Given the description of an element on the screen output the (x, y) to click on. 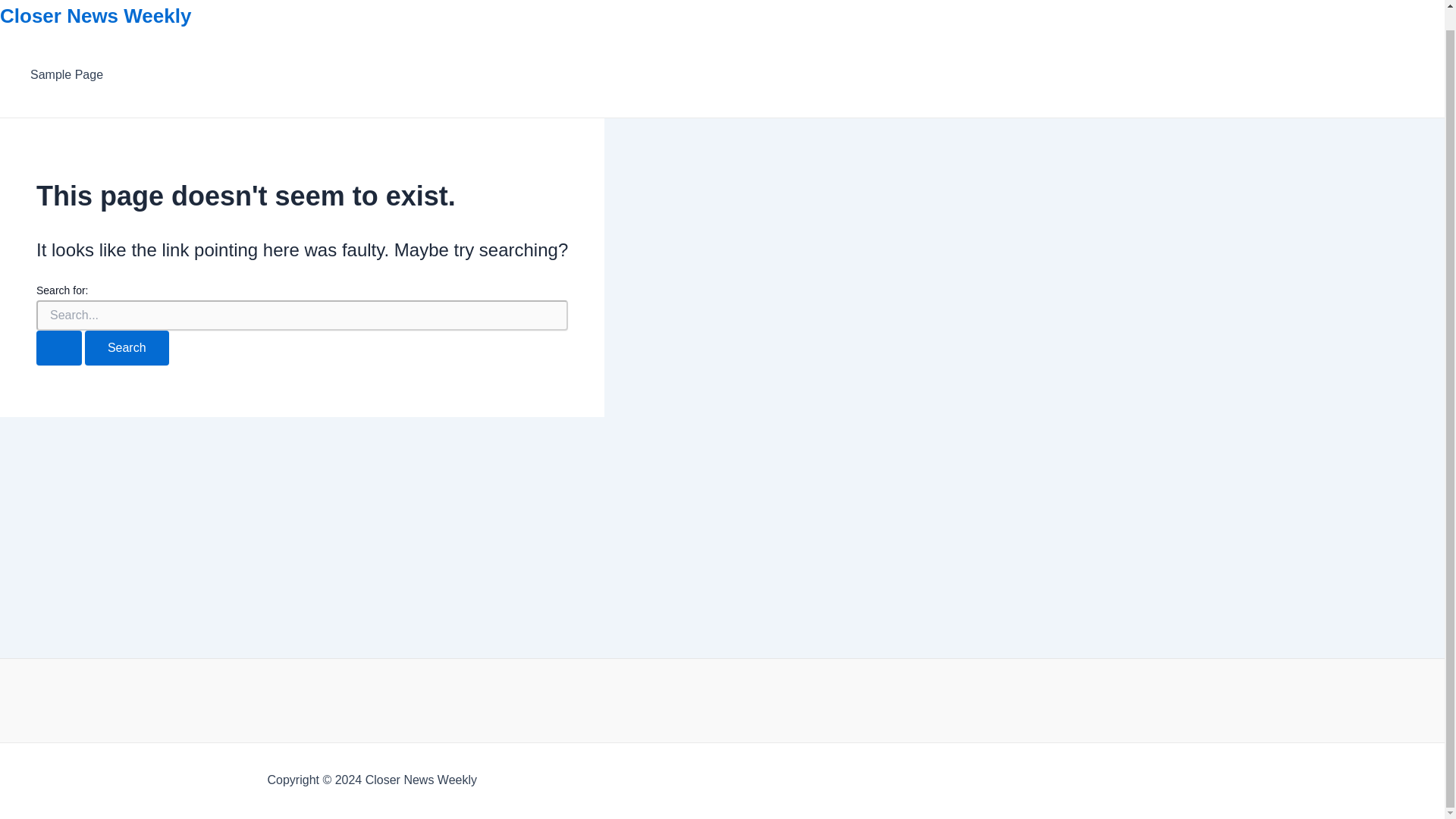
Closer News Weekly (95, 15)
Sample Page (66, 75)
Search (126, 347)
Search (126, 347)
Search (126, 347)
